Given the description of an element on the screen output the (x, y) to click on. 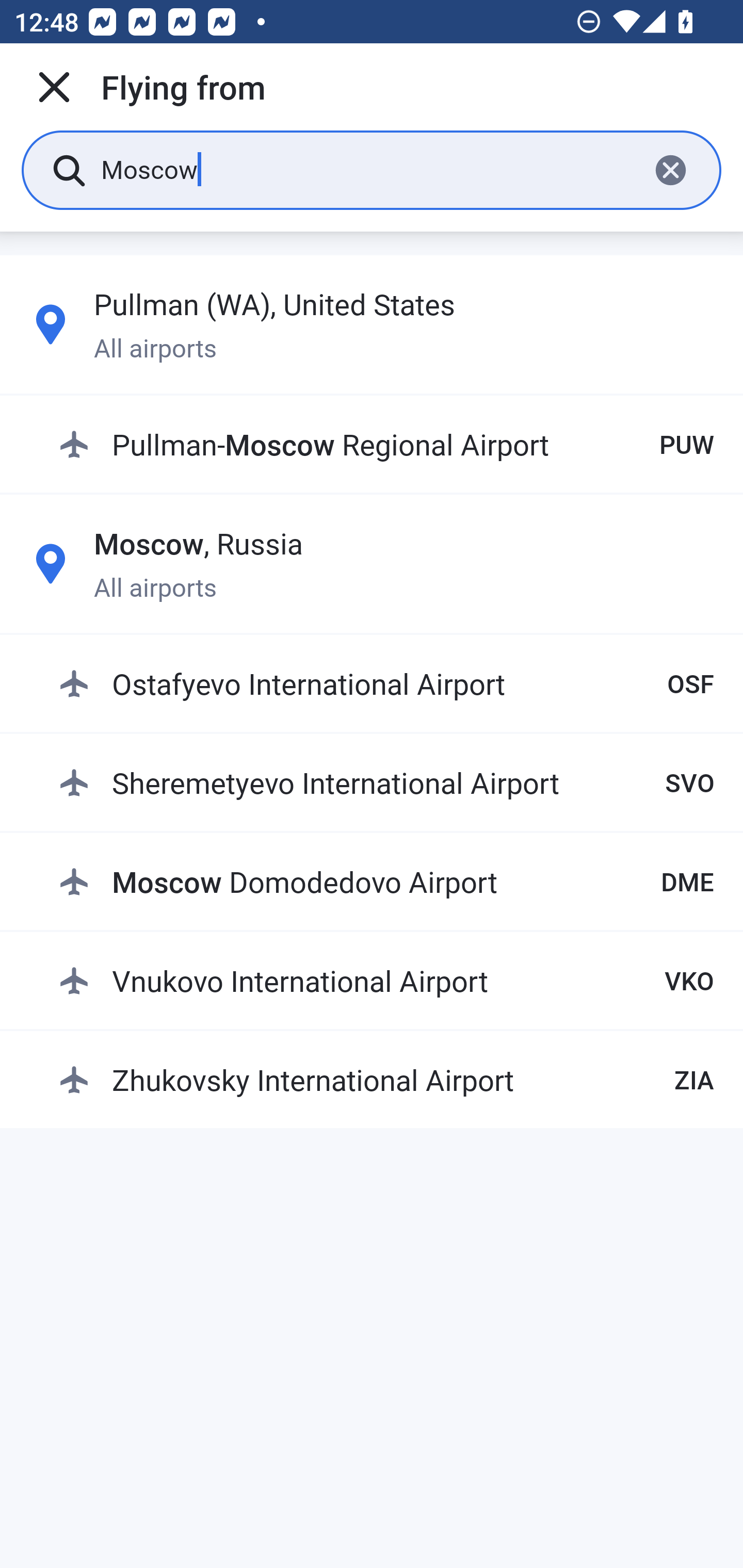
Moscow (367, 169)
Pullman (WA), United States All airports (371, 324)
Pullman-Moscow Regional Airport PUW (385, 444)
Moscow, Russia All airports (371, 563)
Ostafyevo International Airport OSF (385, 682)
Sheremetyevo International Airport SVO (385, 782)
Moscow Domodedovo Airport DME (385, 881)
Vnukovo International Airport VKO (385, 980)
Zhukovsky International Airport ZIA (385, 1079)
